Given the description of an element on the screen output the (x, y) to click on. 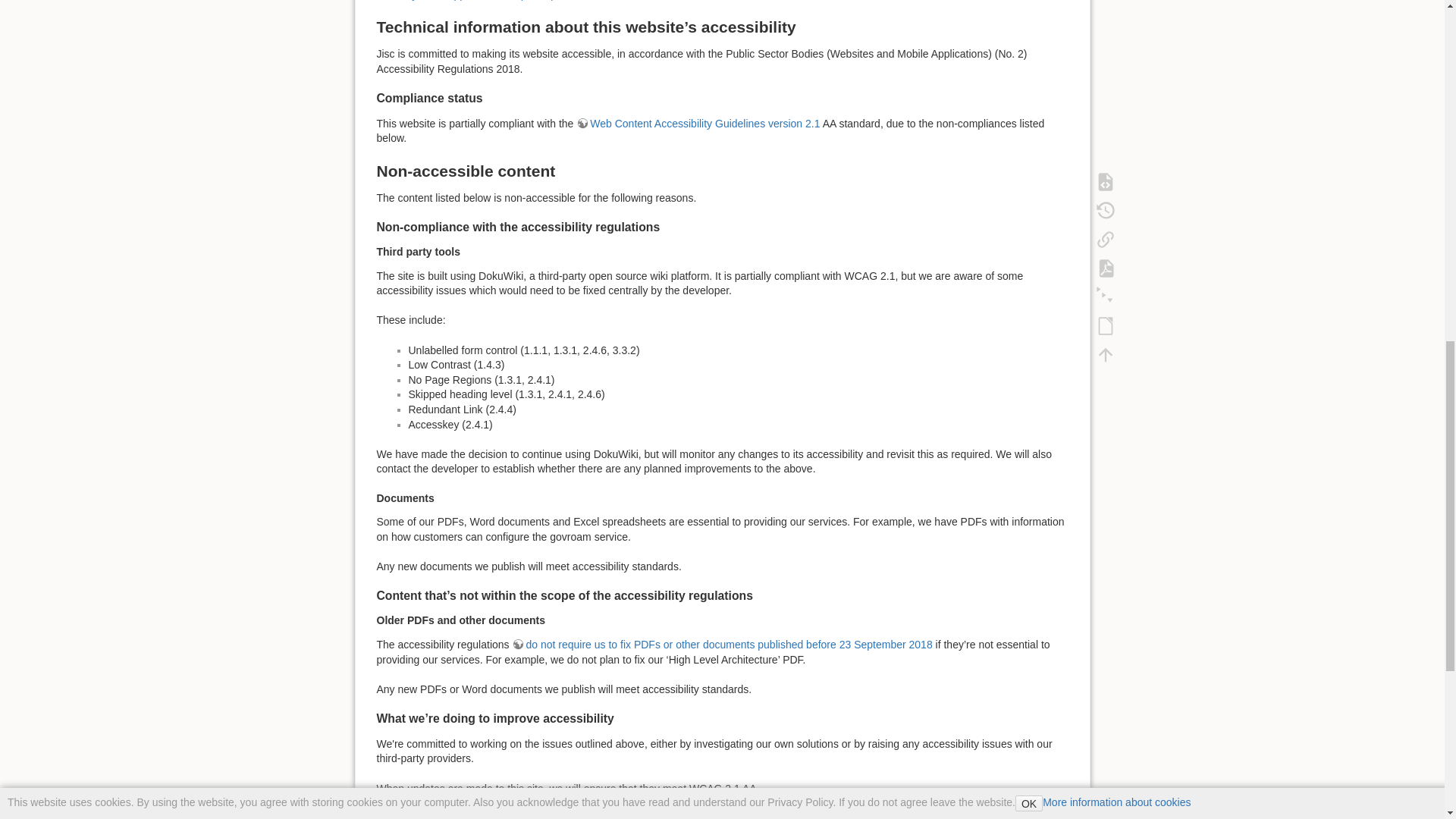
Web Content Accessibility Guidelines version 2.1 (697, 123)
